Given the description of an element on the screen output the (x, y) to click on. 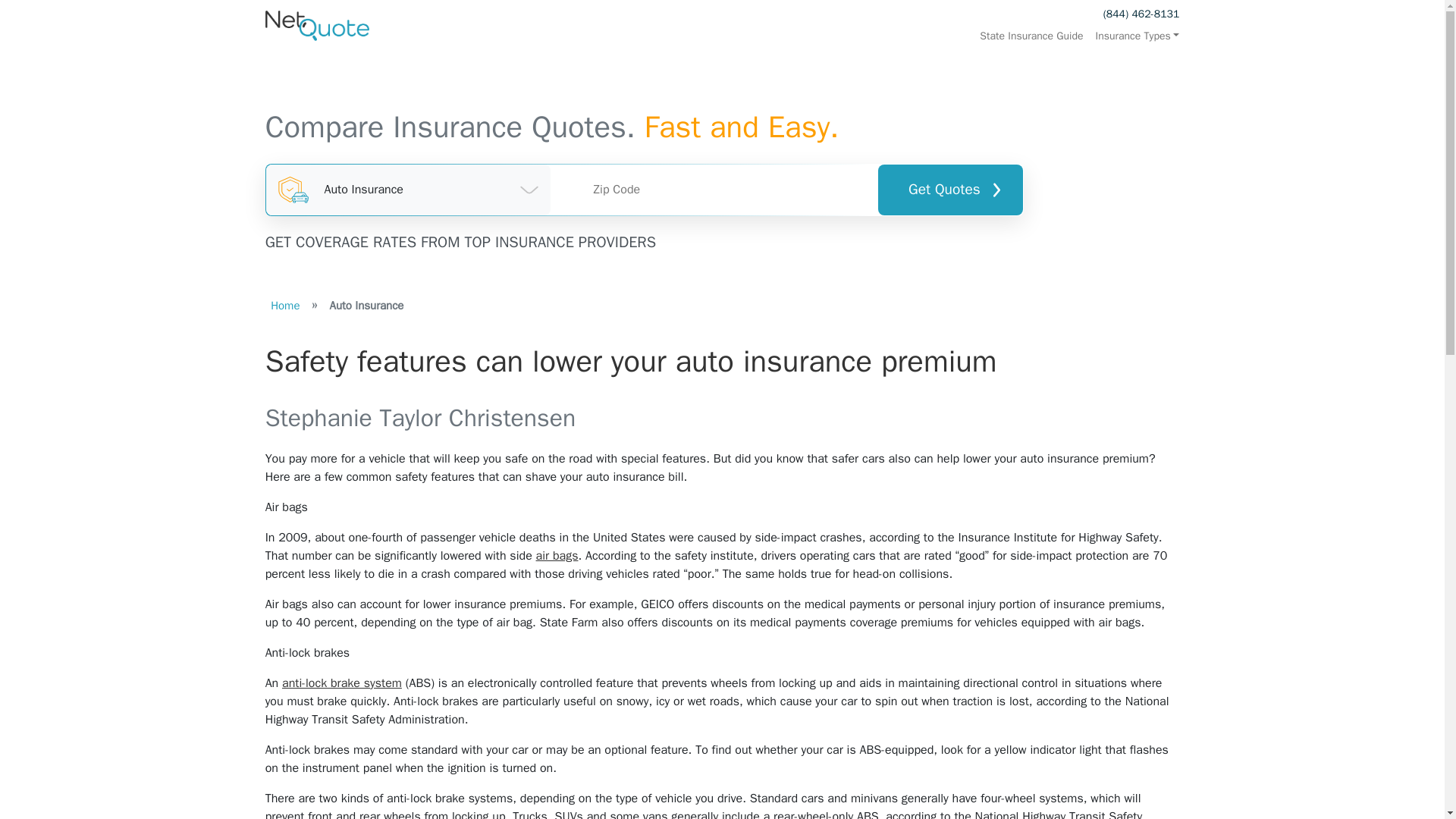
Call for Quotes (1141, 13)
anti-lock brake system (341, 683)
Insurance Types (1134, 35)
State Insurance Guide (1031, 35)
Home (284, 305)
air bags (556, 555)
Auto Insurance (408, 189)
Get Quotes (949, 189)
